Given the description of an element on the screen output the (x, y) to click on. 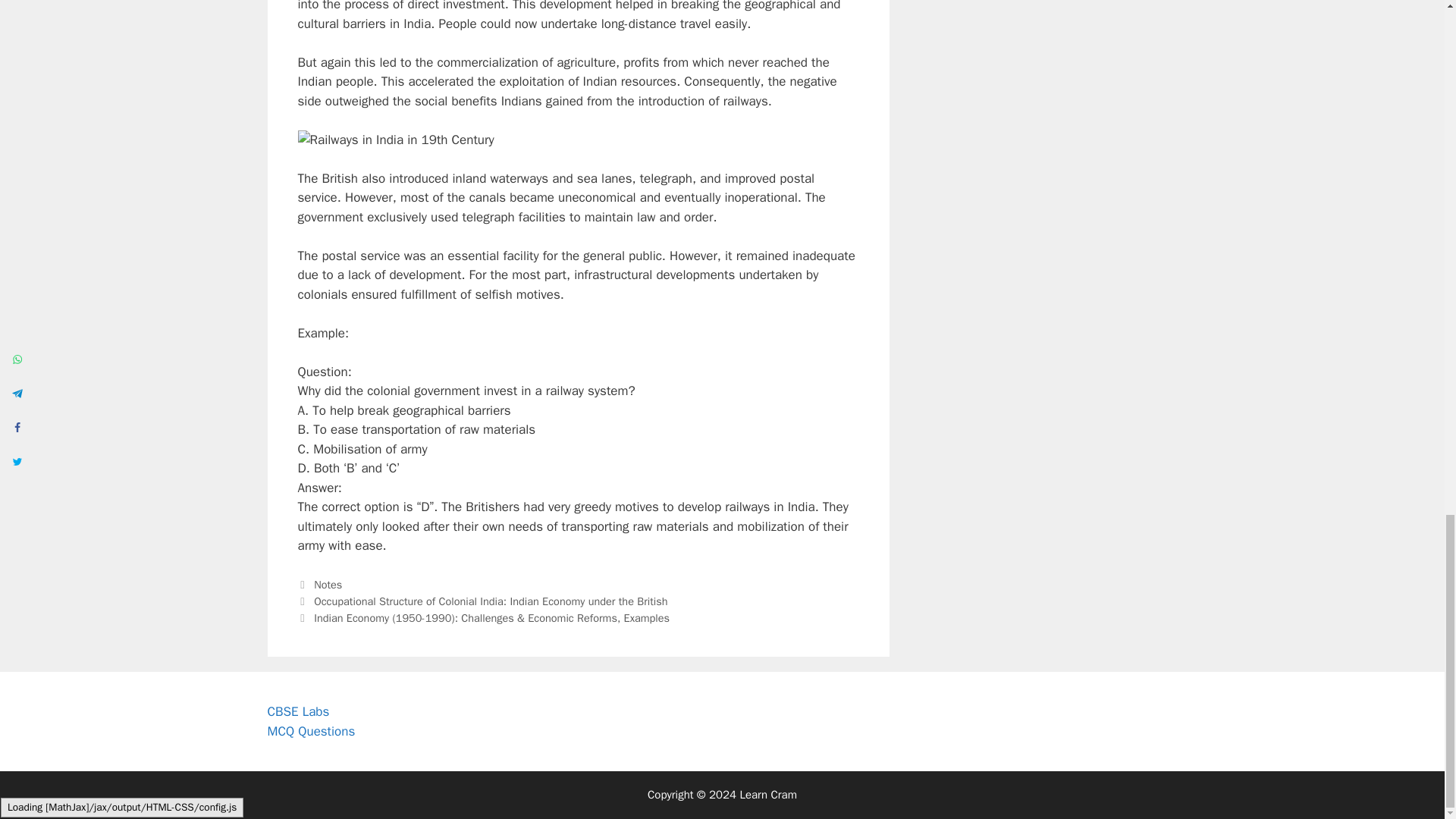
Previous (481, 601)
Notes (328, 584)
Next (483, 617)
